Given the description of an element on the screen output the (x, y) to click on. 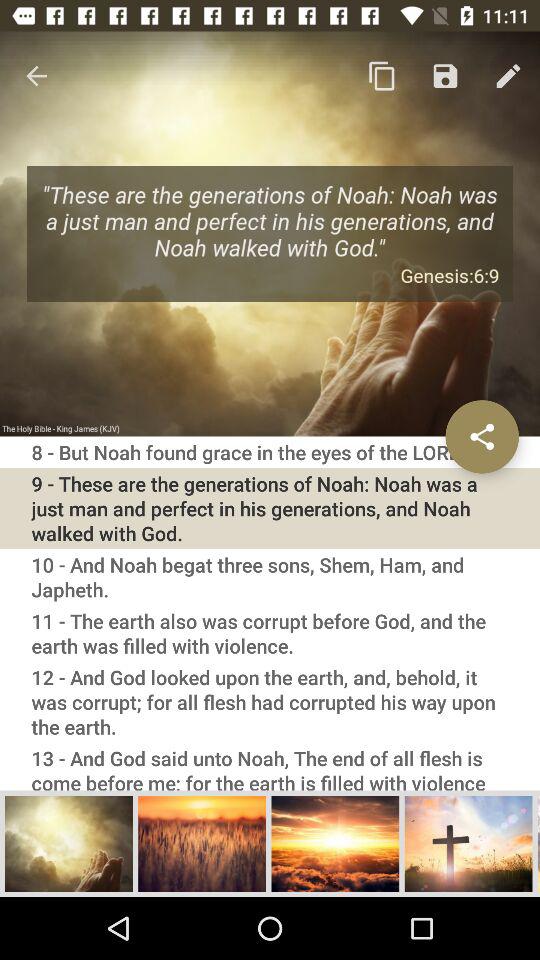
click icon at the top left corner (36, 75)
